Given the description of an element on the screen output the (x, y) to click on. 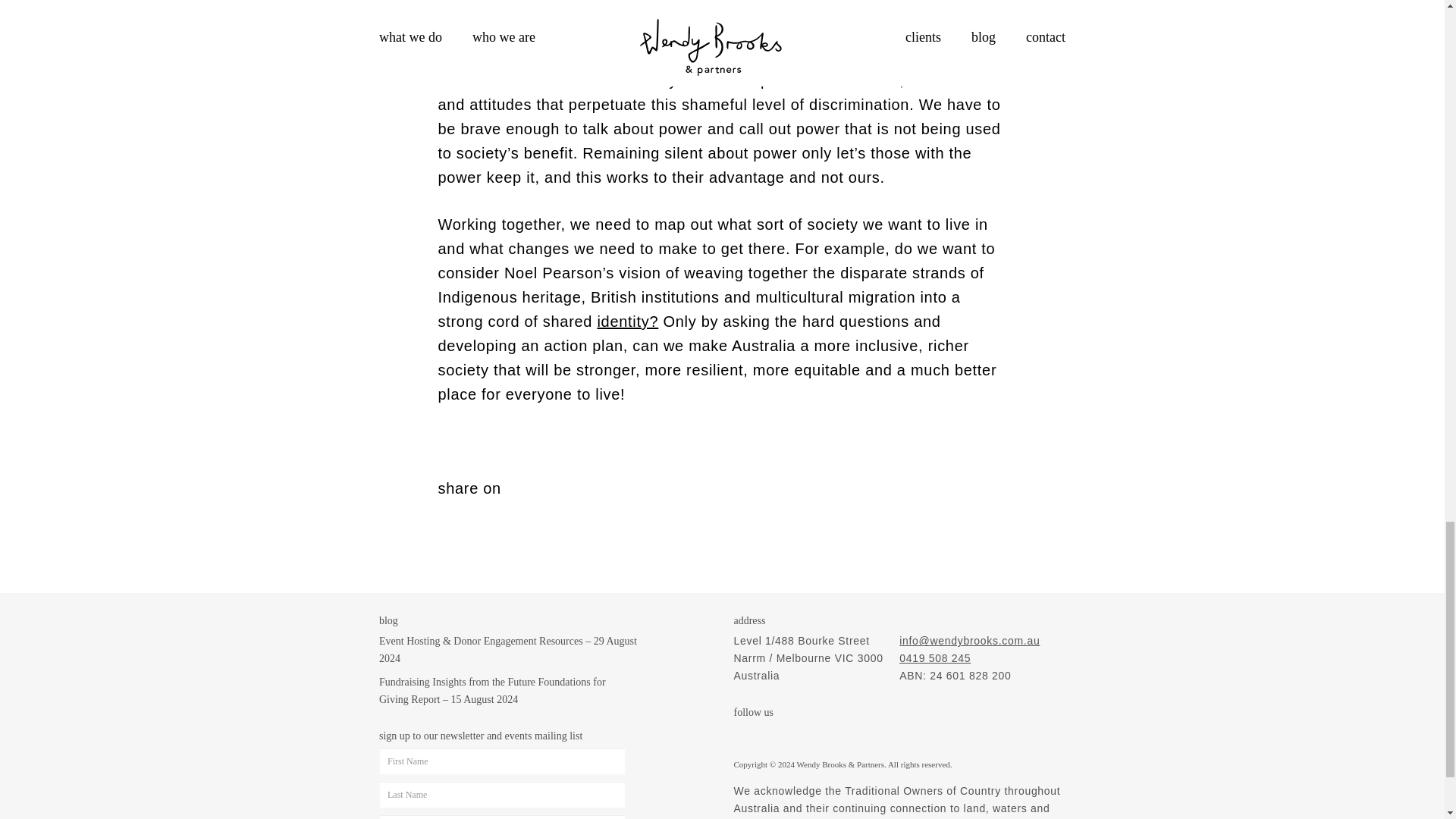
LinkedIn (804, 734)
Share on Facebook (449, 510)
Facebook (773, 734)
Share on LinkedIn (475, 510)
Instagram (743, 734)
identity? (627, 321)
0419 508 245 (935, 657)
